Given the description of an element on the screen output the (x, y) to click on. 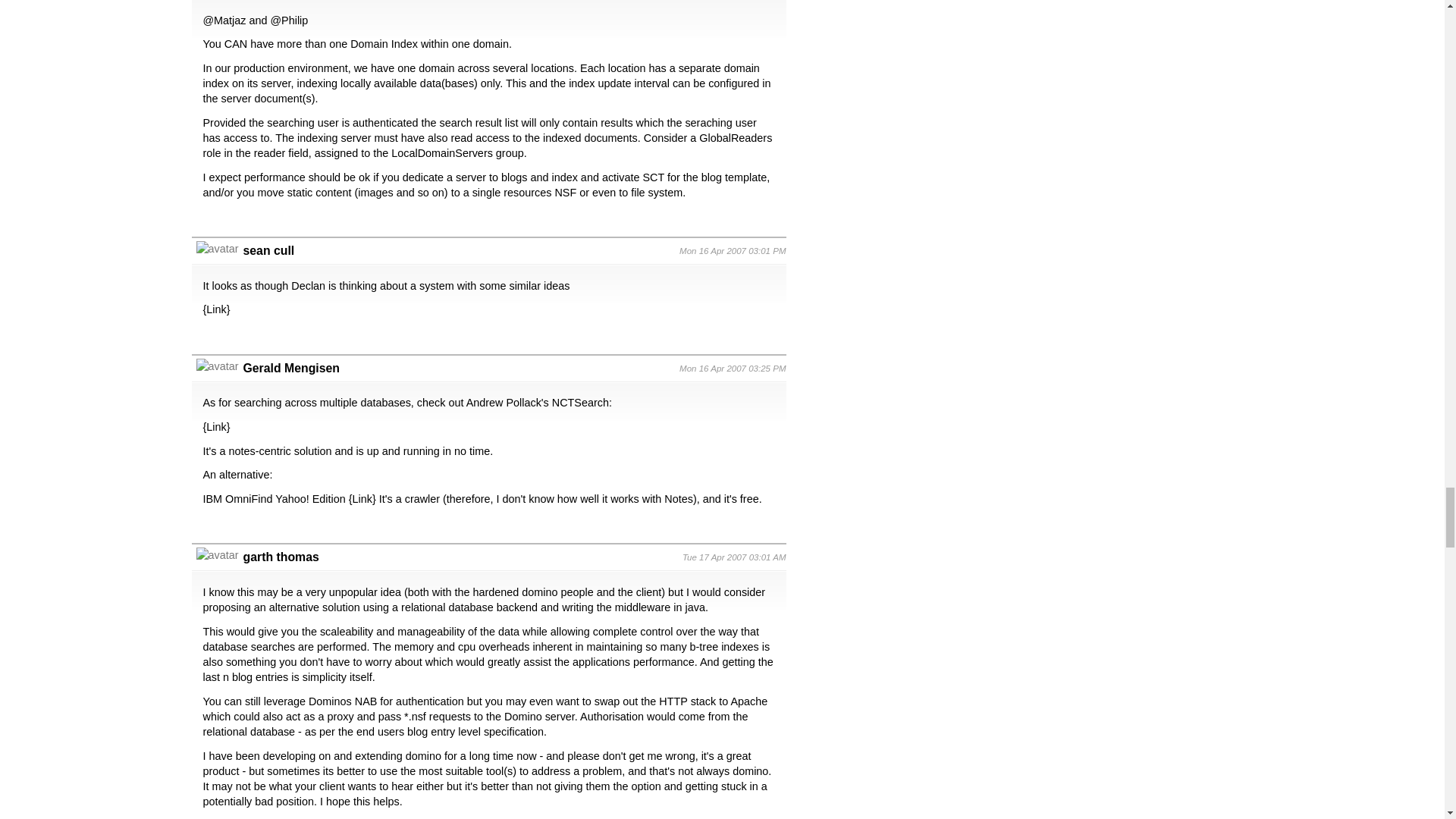
Link (215, 426)
Gerald Mengisen (291, 367)
garth thomas (280, 556)
Link (215, 309)
Click to Email (291, 367)
sean cull (268, 250)
Link (362, 499)
